Given the description of an element on the screen output the (x, y) to click on. 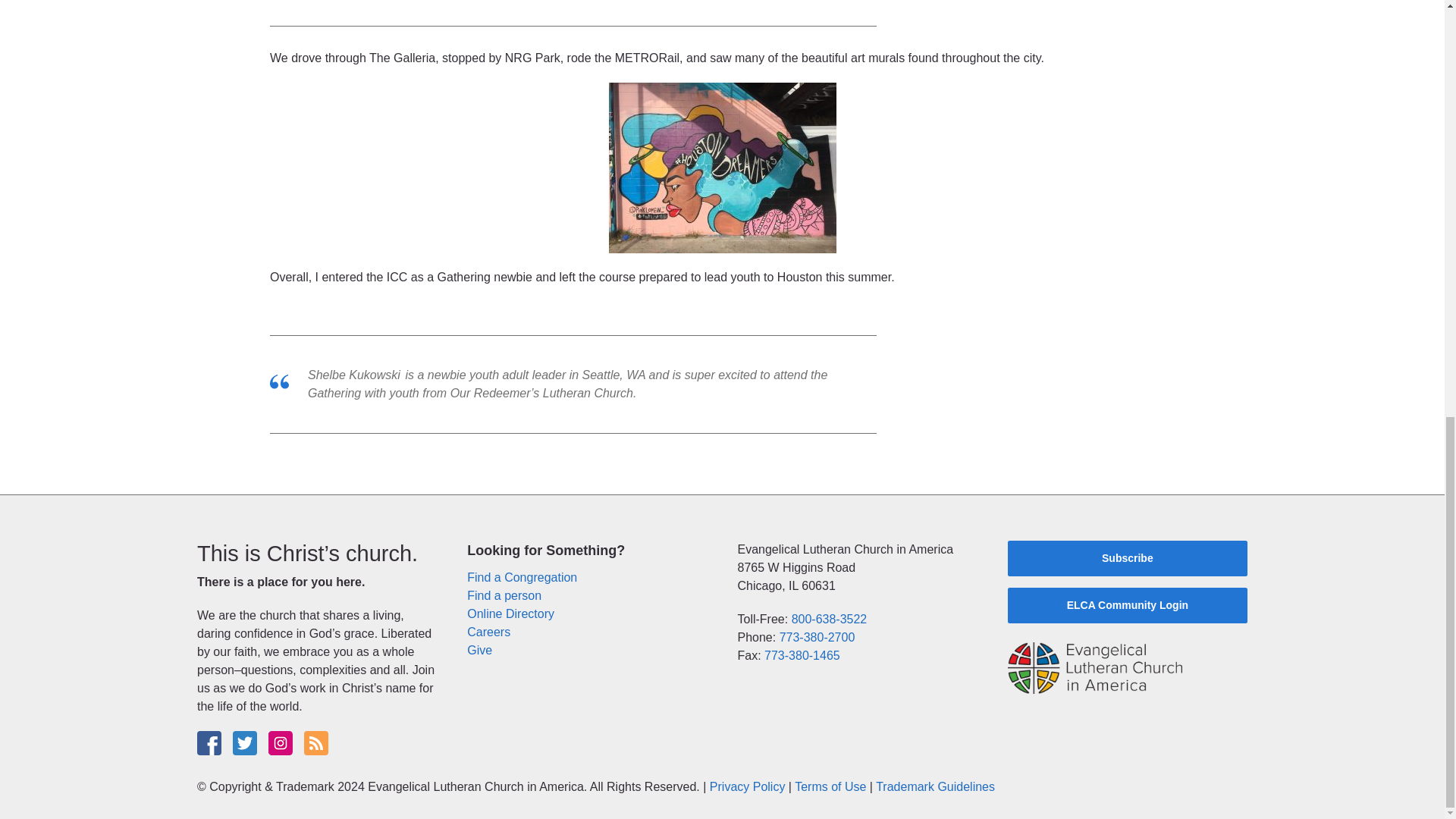
Online Directory (510, 613)
Careers (489, 631)
800-638-3522 (829, 618)
Give (479, 649)
Find a Congregation (521, 576)
Find a person (504, 594)
